Given the description of an element on the screen output the (x, y) to click on. 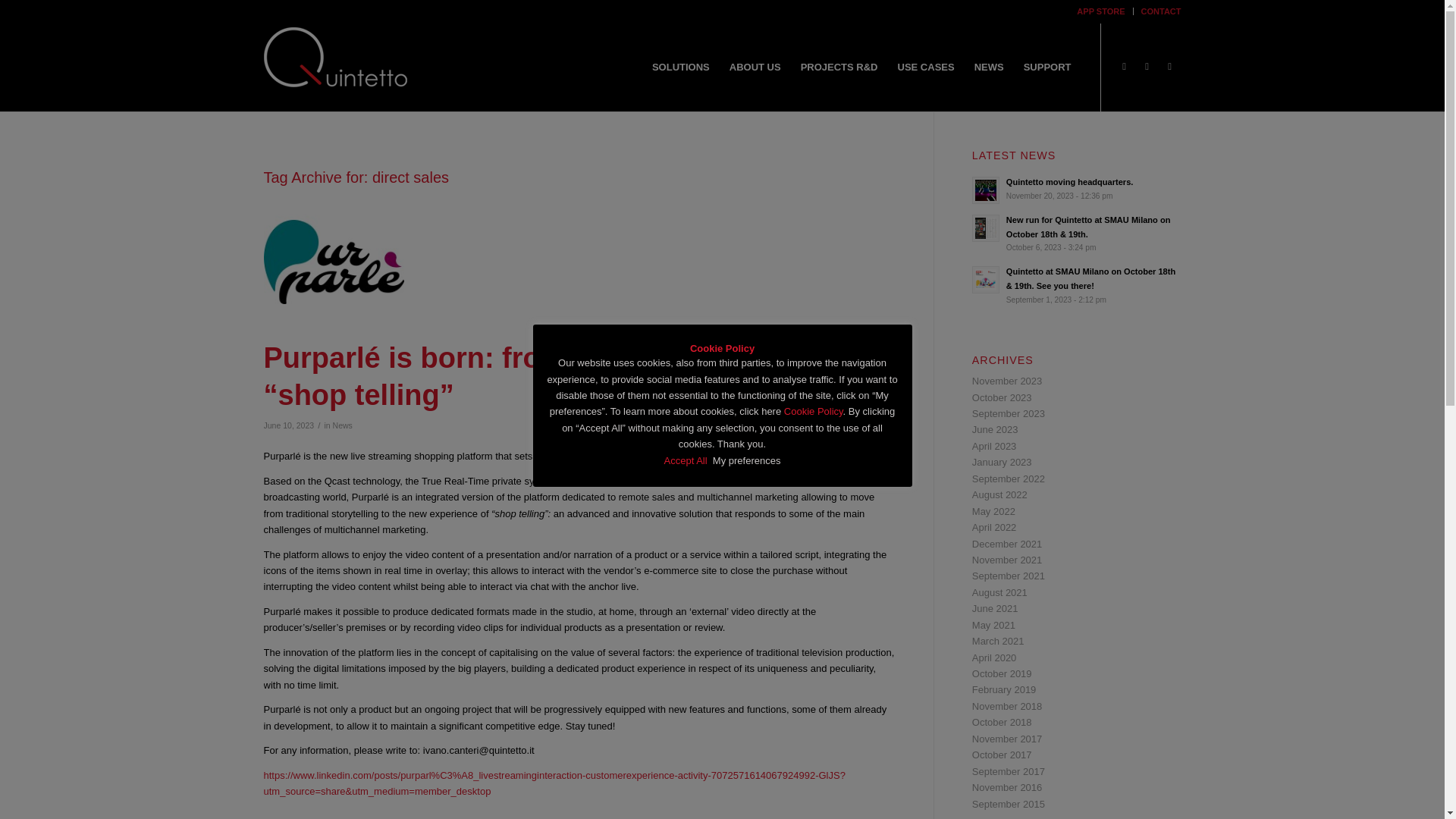
APP STORE (1100, 11)
Quintetto moving headquarters. (1076, 188)
LinkedIn (1169, 66)
Youtube (1146, 66)
November 2023 (1007, 380)
1674832023235 (579, 261)
LOGO (335, 56)
CONTACT (1160, 11)
Facebook (1124, 66)
News (1076, 188)
